Given the description of an element on the screen output the (x, y) to click on. 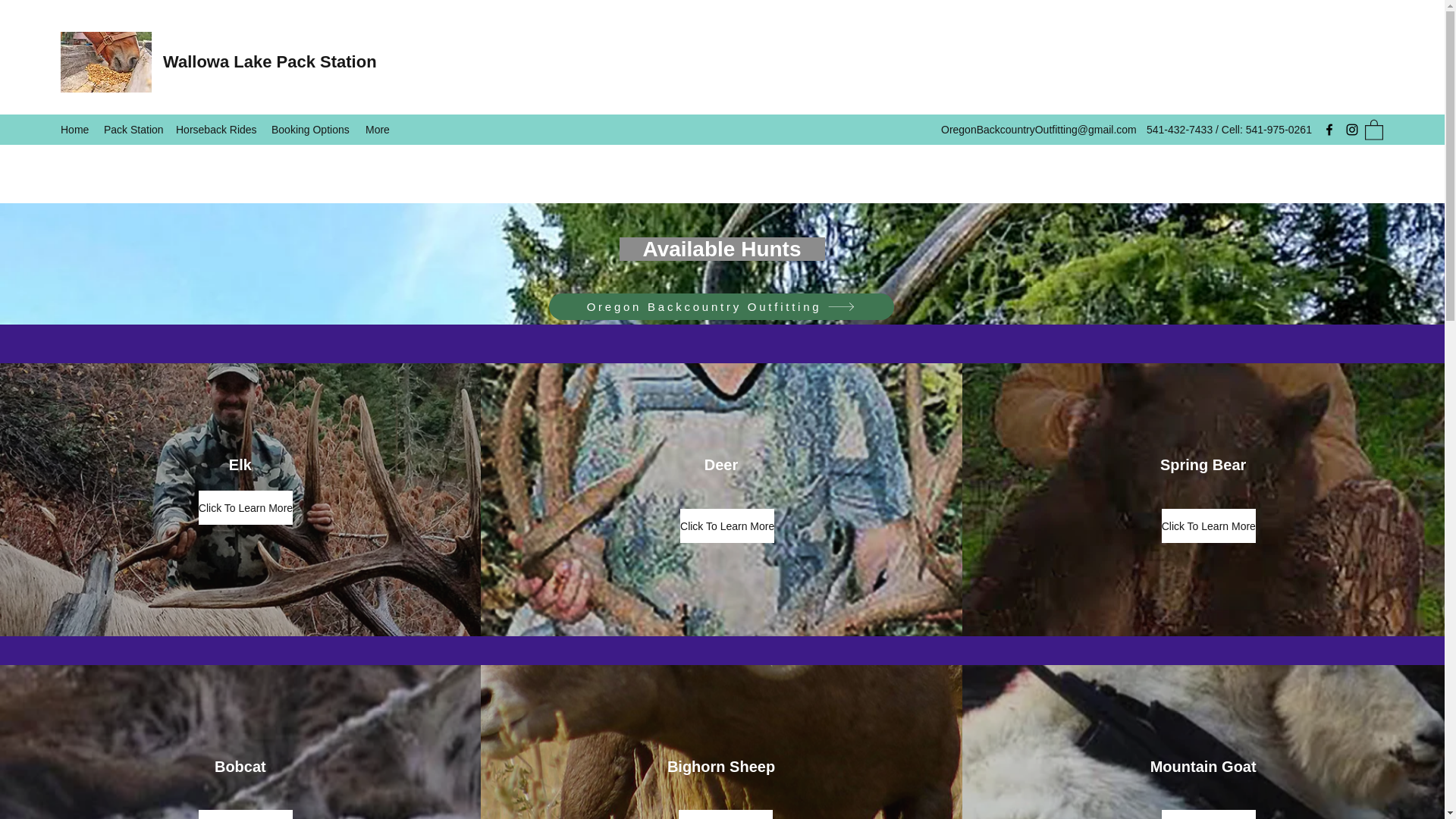
Click To Learn More (1208, 814)
Click To Learn More (245, 507)
Booking Options (310, 128)
Click To Learn More (245, 814)
Click To Learn More (726, 525)
Click To Learn More (725, 814)
Horseback Rides (215, 128)
Pack Station (132, 128)
Click To Learn More (1208, 525)
Oregon Backcountry Outfitting (720, 306)
